Given the description of an element on the screen output the (x, y) to click on. 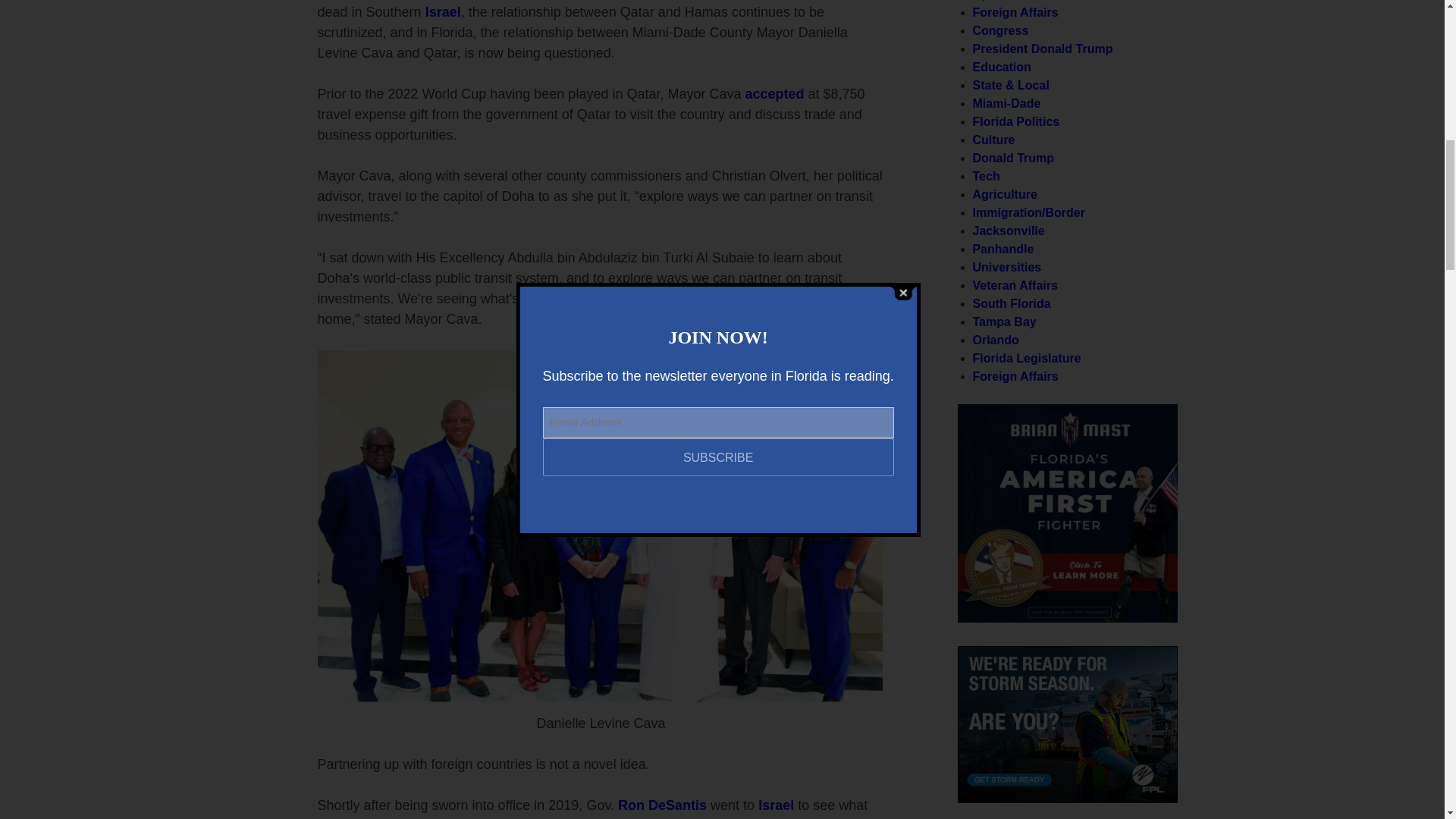
Partnering To Reduce Recidivism (1066, 617)
Israel (775, 805)
Israel (443, 11)
accepted (773, 93)
Ron DeSantis (661, 805)
Search (1138, 419)
Search (1138, 419)
Search (1138, 419)
